Given the description of an element on the screen output the (x, y) to click on. 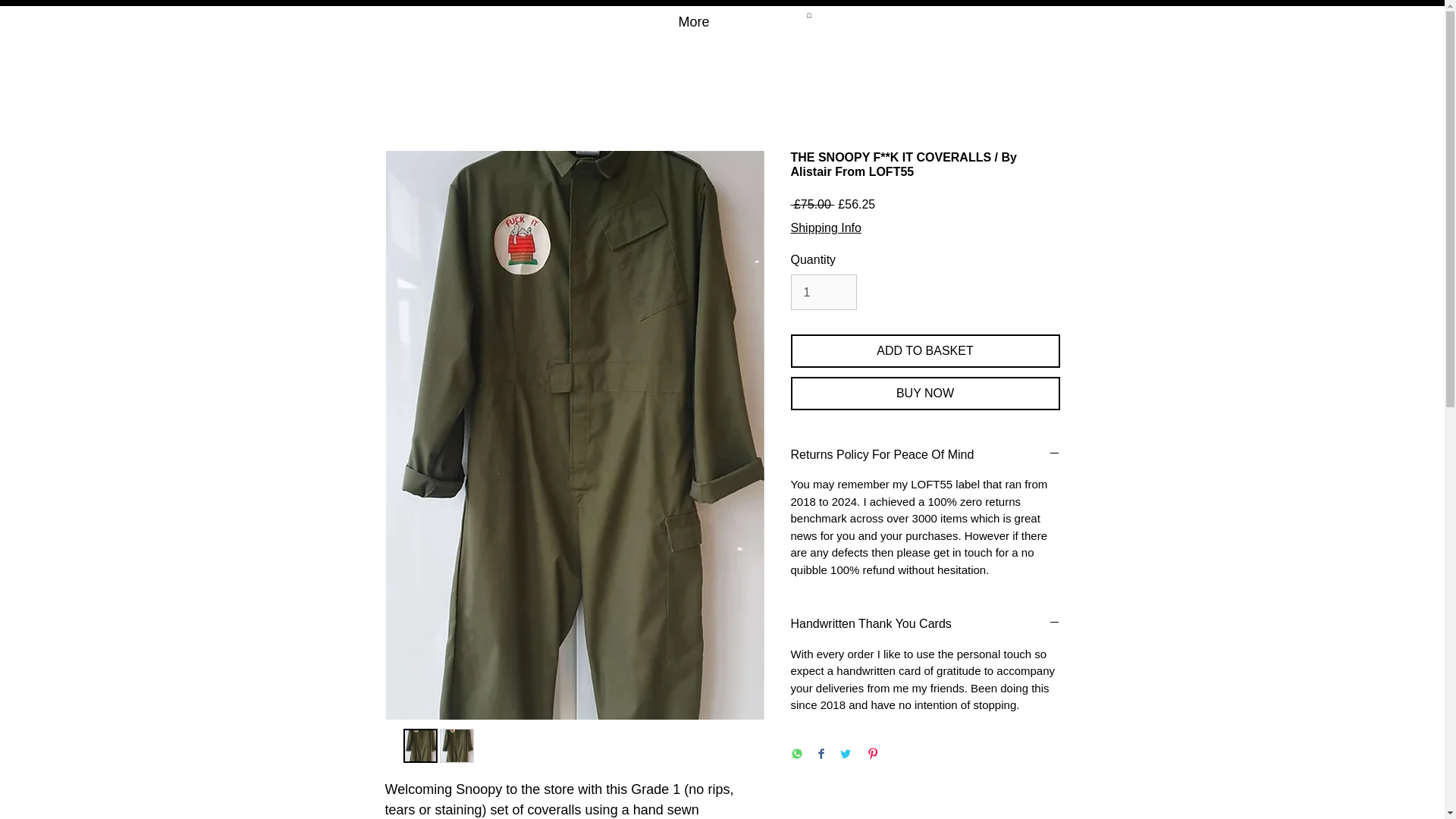
Shipping Info (825, 228)
BUY NOW (924, 393)
Returns Policy For Peace Of Mind (924, 454)
1 (823, 291)
ADD TO BASKET (924, 350)
Handwritten Thank You Cards (924, 623)
